Given the description of an element on the screen output the (x, y) to click on. 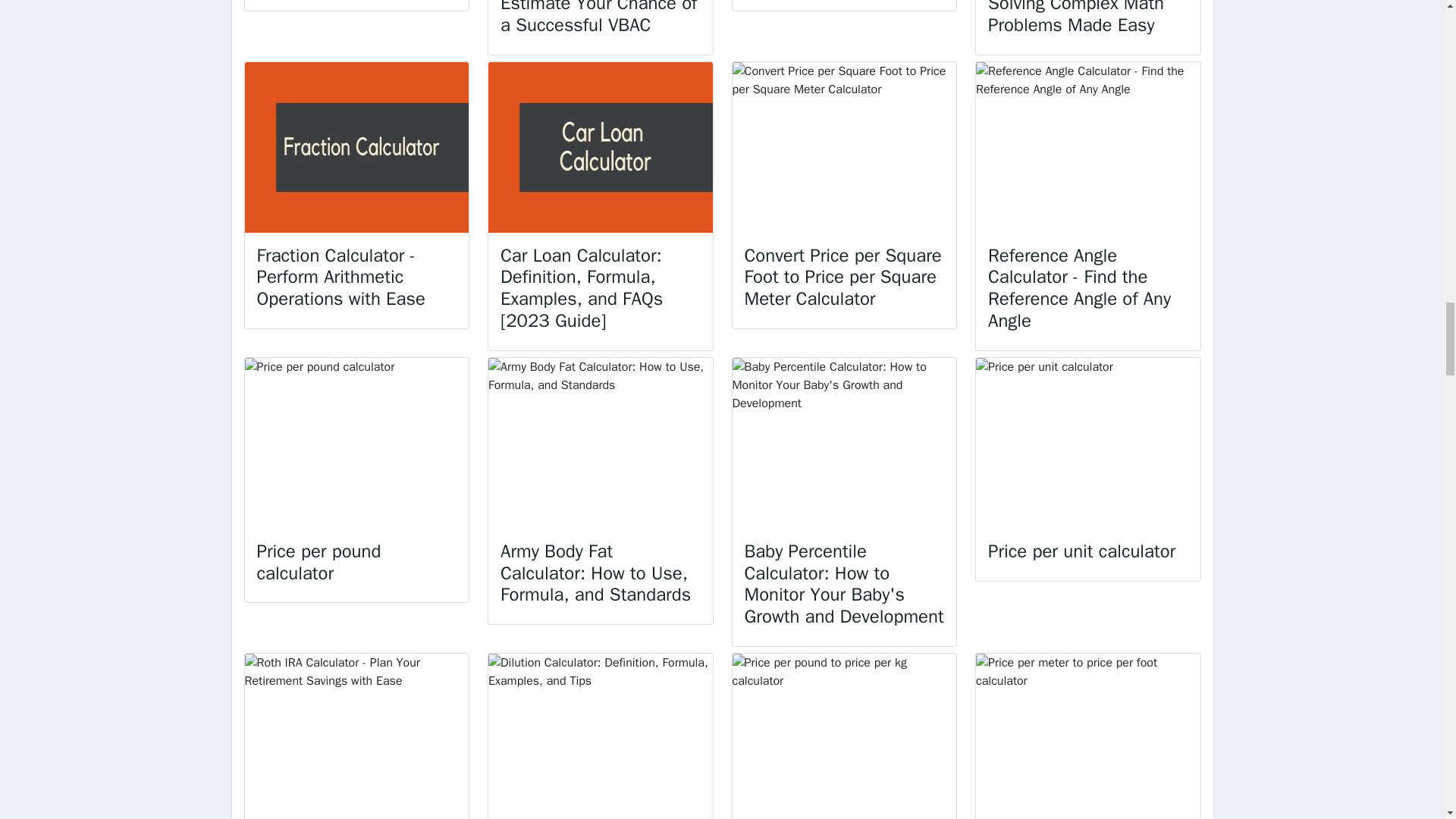
VBAC Calculator: Estimate Your Chance of a Successful VBAC (598, 18)
Army Body Fat Calculator: How to Use, Formula, and Standards (595, 572)
PEMDAS Calculator: Solving Complex Math Problems Made Easy (1075, 18)
Price per pound calculator (318, 561)
